Given the description of an element on the screen output the (x, y) to click on. 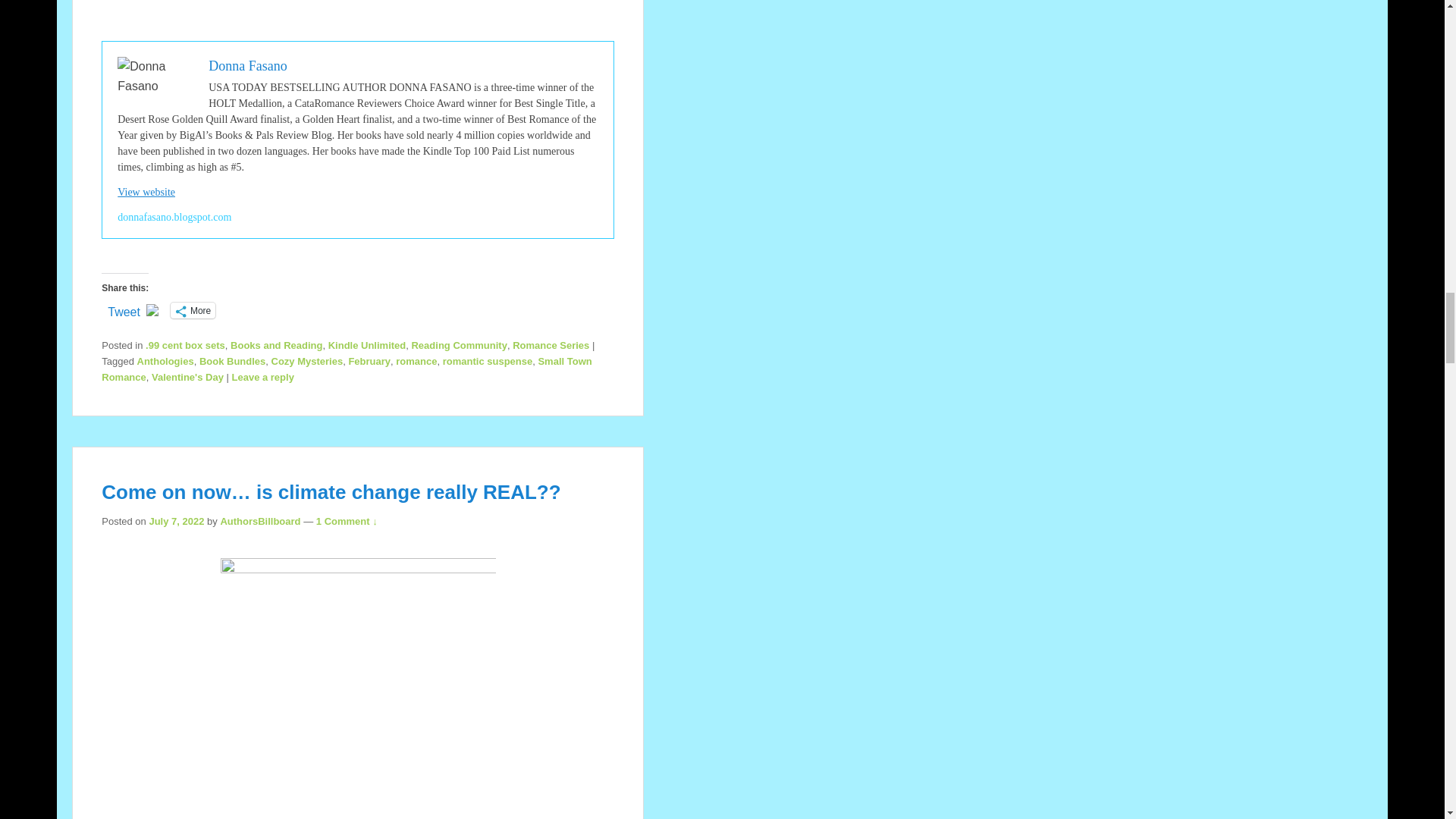
View website (145, 192)
Donna Fasano (247, 65)
More (192, 310)
View all posts by AuthorsBillboard (259, 521)
Tweet (123, 309)
donnafasano.blogspot.com (174, 216)
1:00 pm (175, 521)
